Given the description of an element on the screen output the (x, y) to click on. 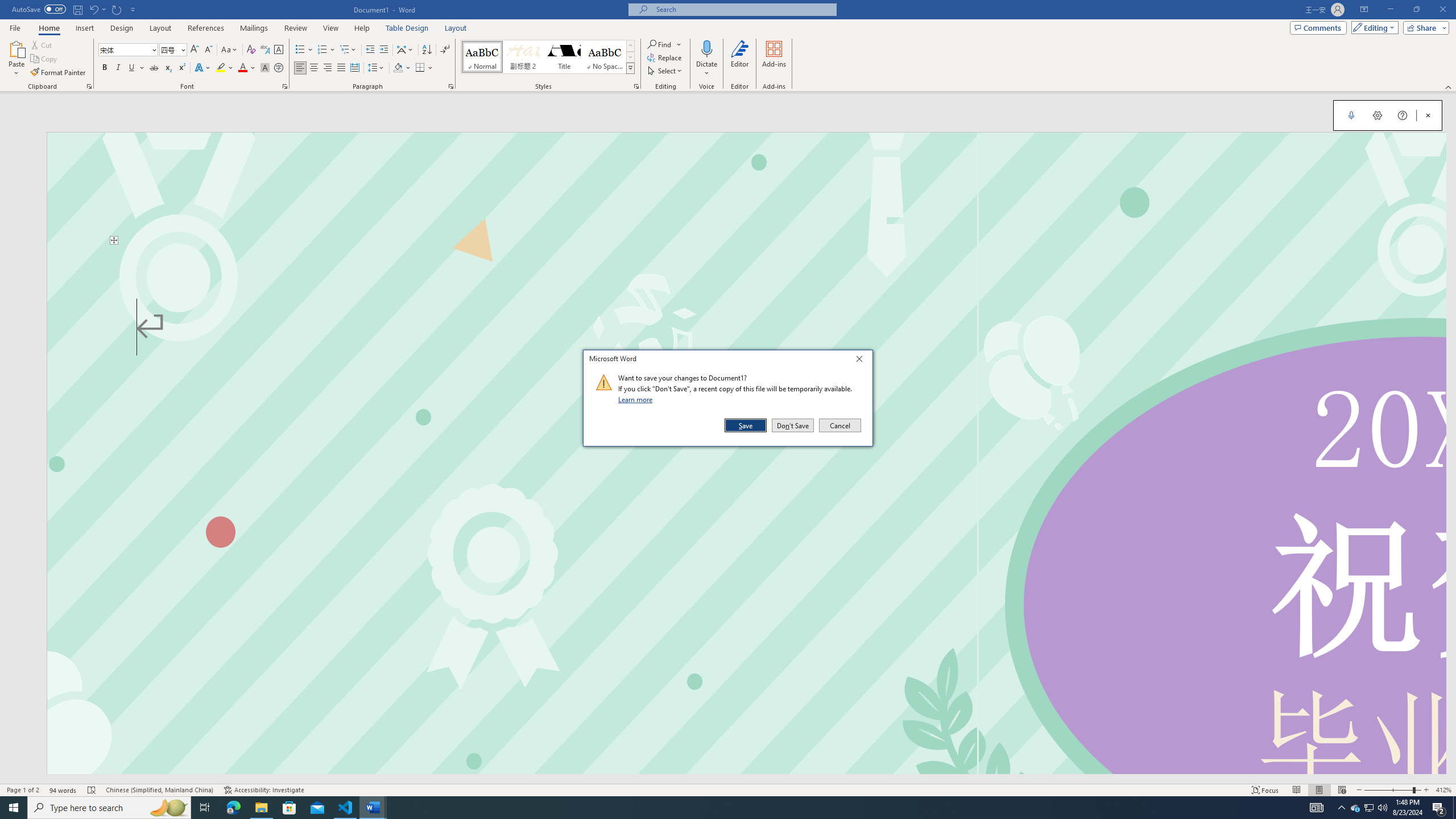
Undo Text Fill Effect (92, 9)
Close Dictation (1428, 115)
